Given the description of an element on the screen output the (x, y) to click on. 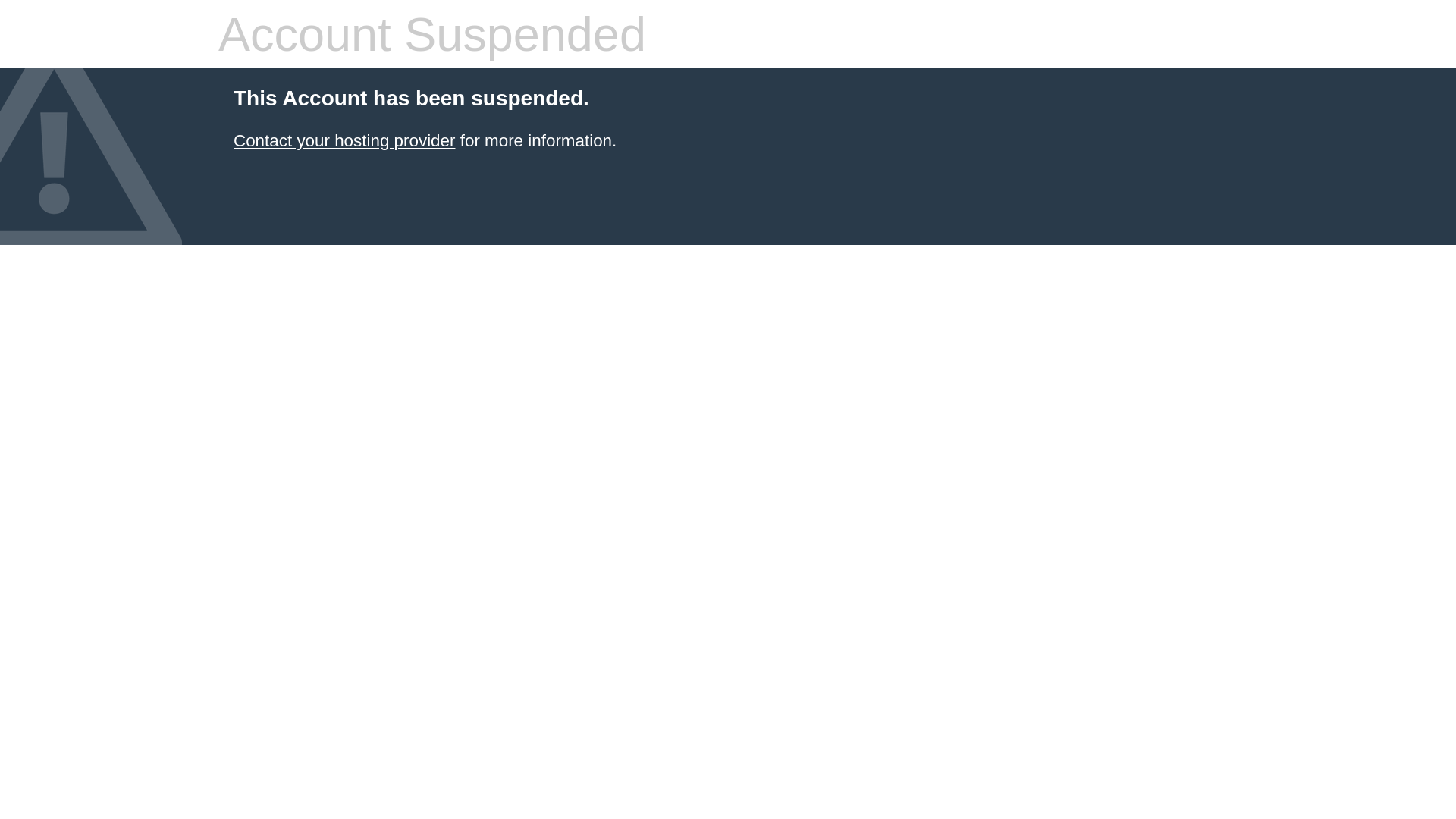
Contact your hosting provider Element type: text (344, 140)
